Given the description of an element on the screen output the (x, y) to click on. 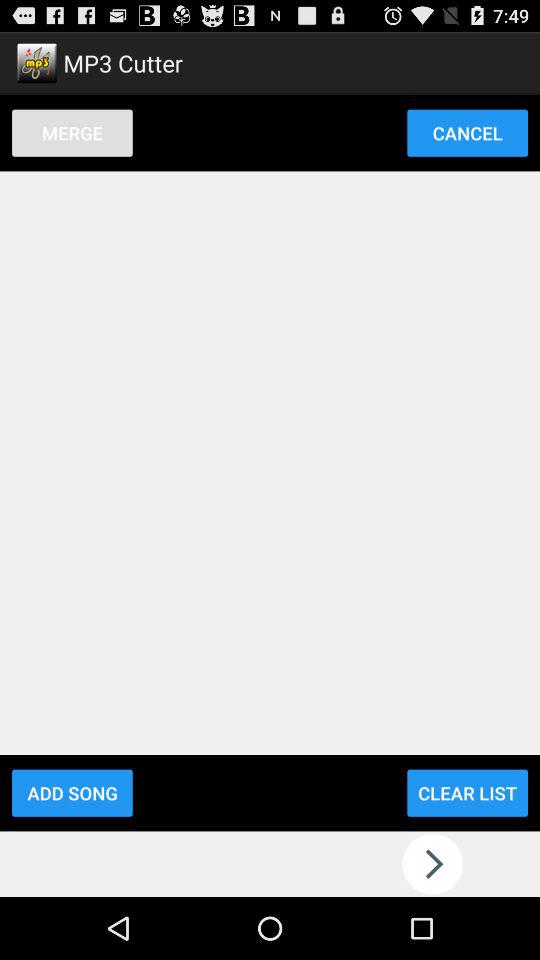
click the icon below the merge button (72, 792)
